Given the description of an element on the screen output the (x, y) to click on. 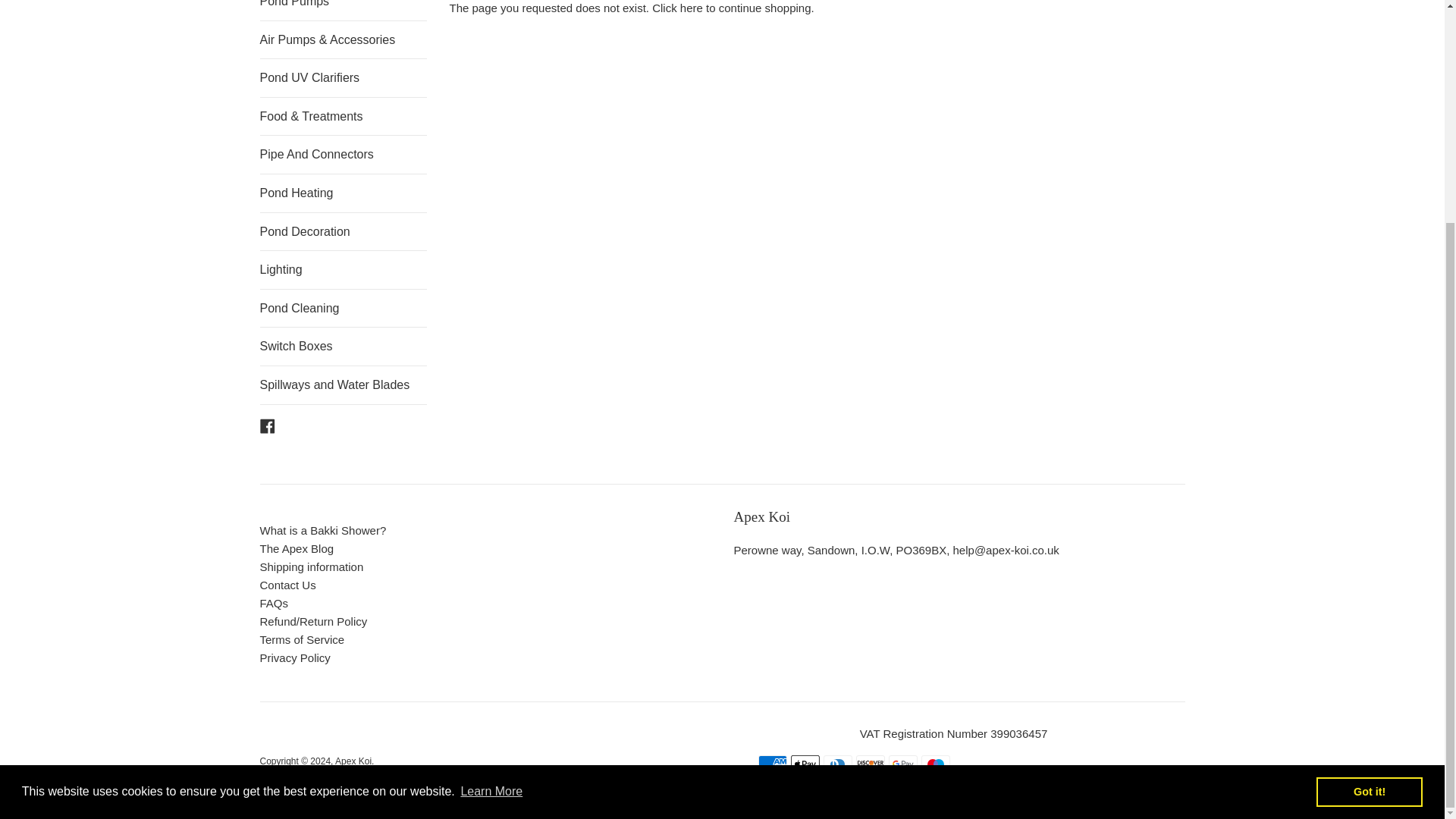
Pond UV Clarifiers (342, 77)
Diners Club (837, 764)
Shipping information (310, 566)
Mastercard (809, 787)
Switch Boxes (342, 346)
Privacy Policy (294, 657)
Apex Koi on Facebook (267, 424)
Pond Pumps (342, 10)
here (691, 7)
Got it! (1369, 494)
